Given the description of an element on the screen output the (x, y) to click on. 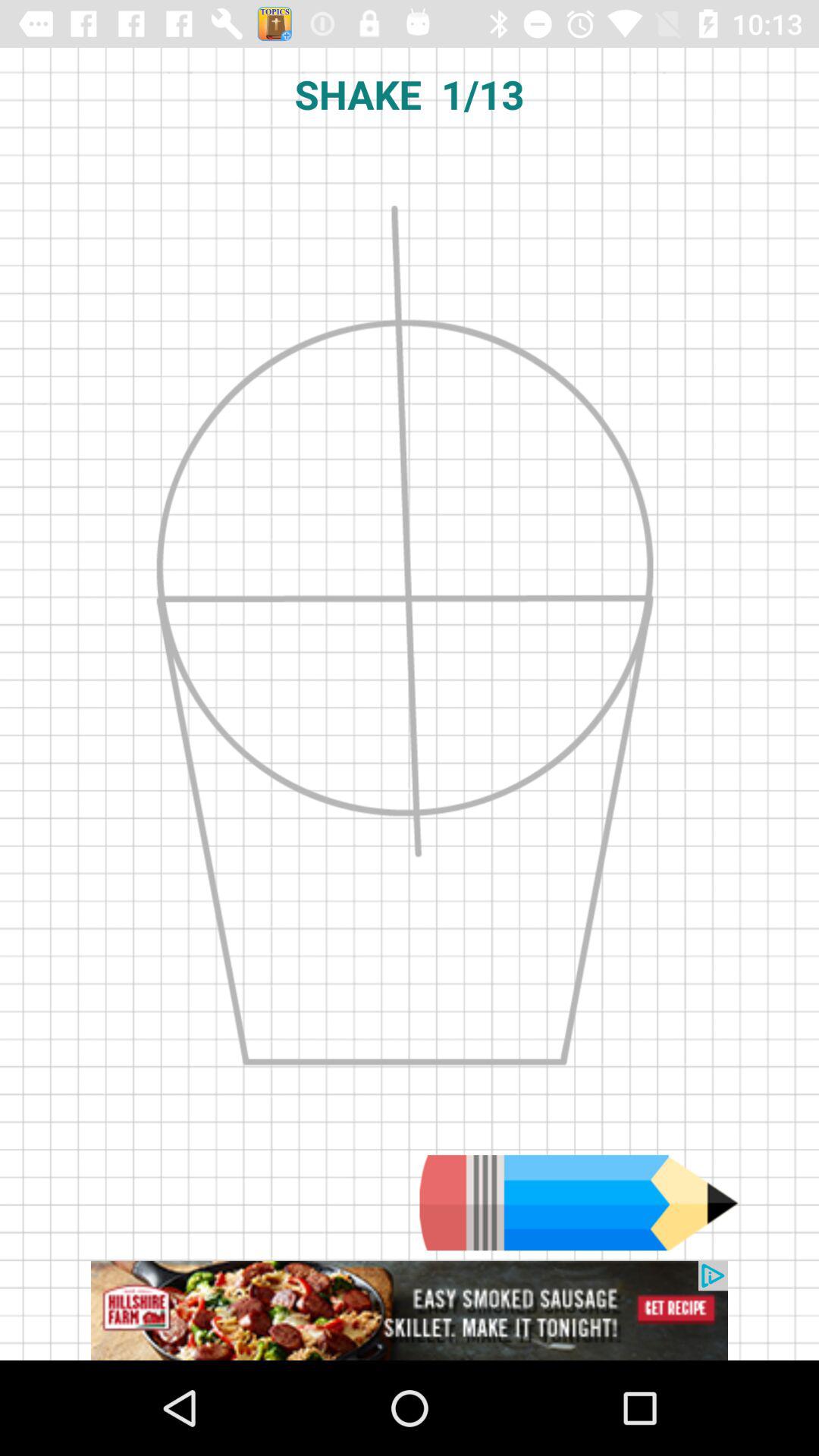
advertisement (409, 1310)
